Given the description of an element on the screen output the (x, y) to click on. 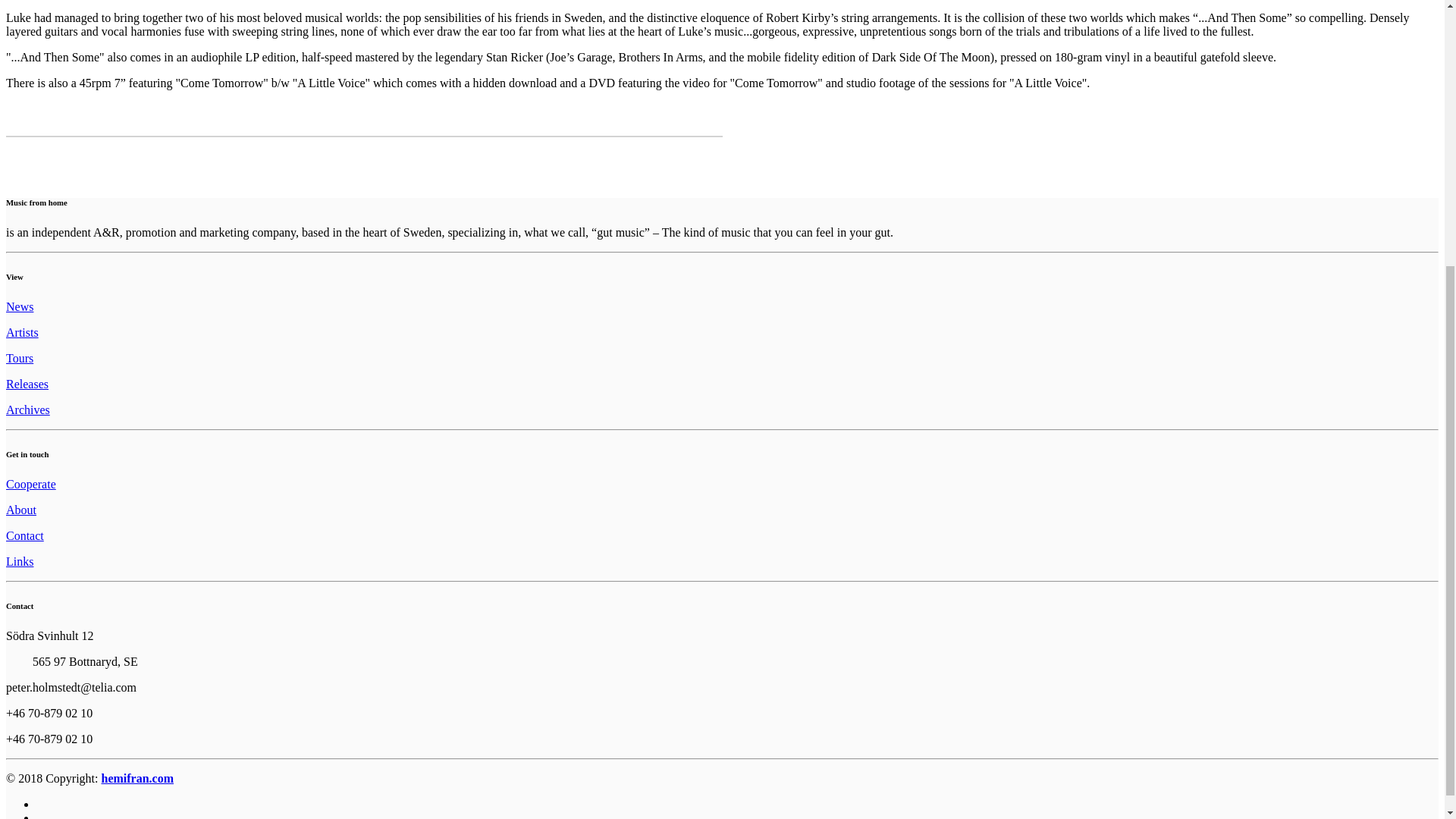
hemifran.com (137, 778)
Artists (22, 332)
Links (19, 561)
About (20, 509)
Tours (19, 358)
Cooperate (30, 483)
News (19, 306)
Releases (26, 383)
Archives (27, 409)
Contact (24, 535)
